Given the description of an element on the screen output the (x, y) to click on. 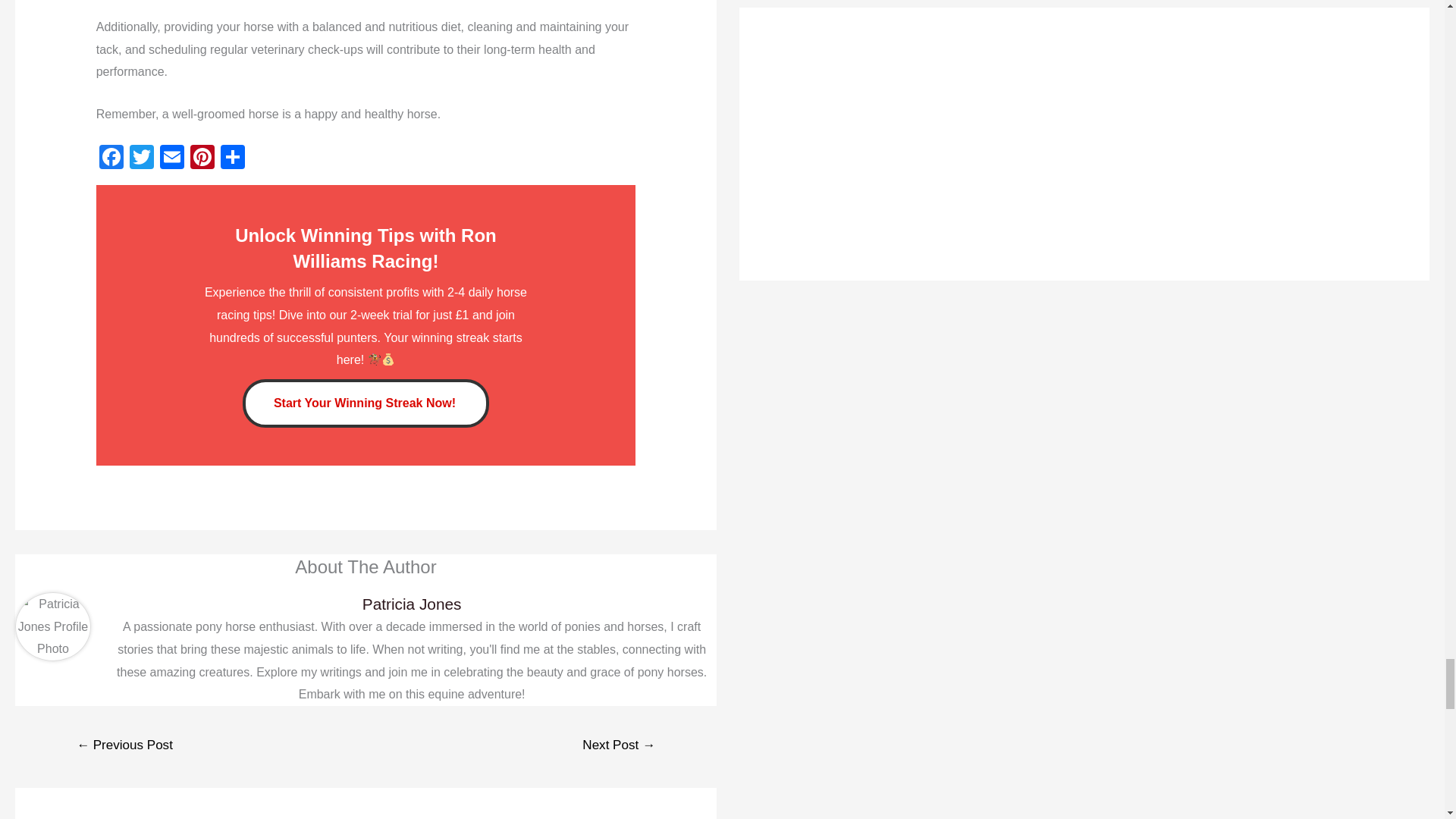
Patricia Jones (411, 603)
Facebook (111, 158)
Email (172, 158)
Facebook (111, 158)
Email (172, 158)
Twitter (141, 158)
Twitter (141, 158)
Pinterest (201, 158)
Pinterest (201, 158)
Start Your Winning Streak Now! (366, 403)
